Given the description of an element on the screen output the (x, y) to click on. 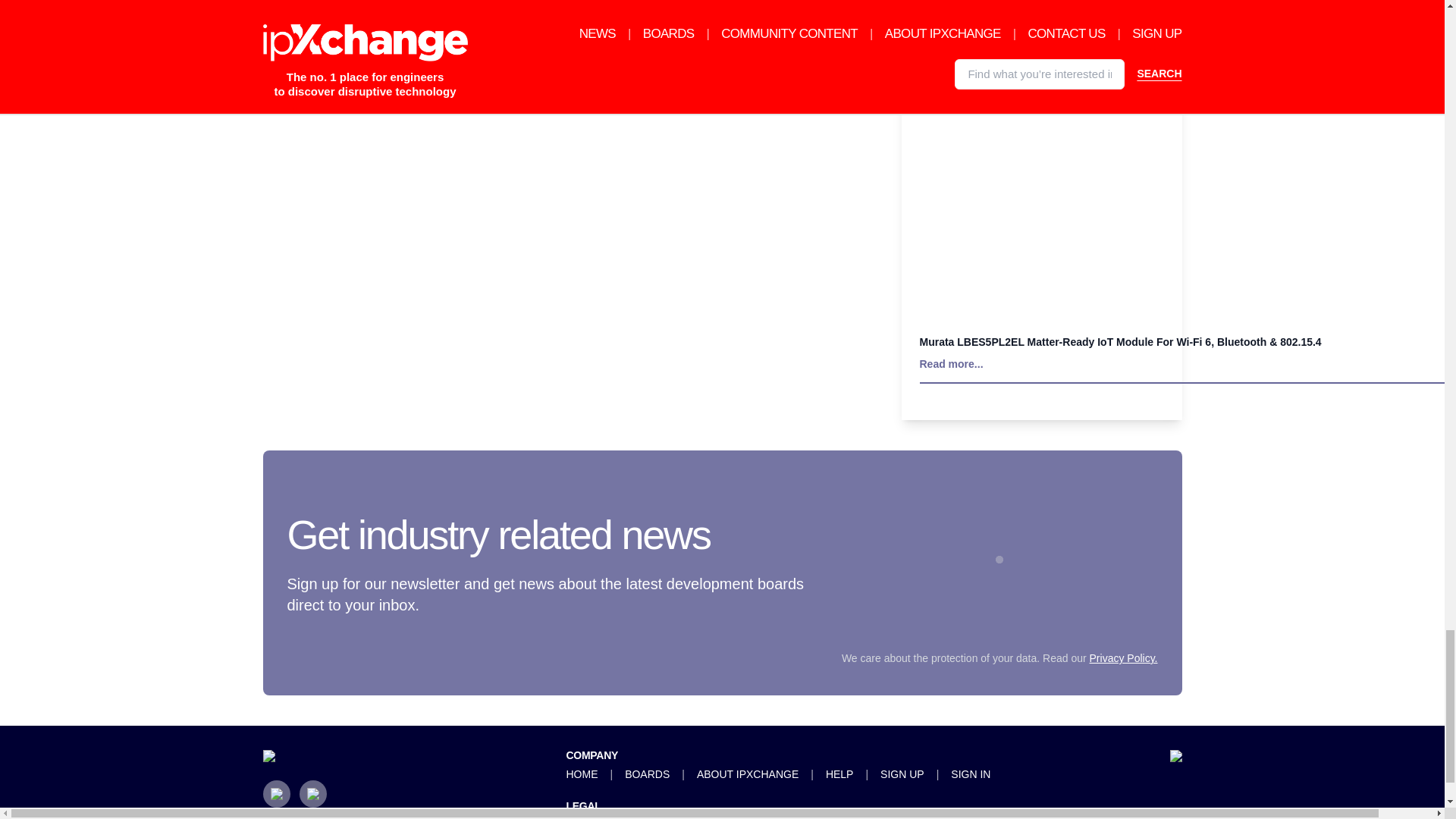
SIGN IN (970, 774)
LinkedIn (275, 793)
Privacy Policy. (1123, 657)
SIGN UP (902, 774)
ABOUT IPXCHANGE (747, 774)
BOARDS (646, 774)
HELP (839, 774)
HOME (581, 774)
YouTube (312, 793)
